Given the description of an element on the screen output the (x, y) to click on. 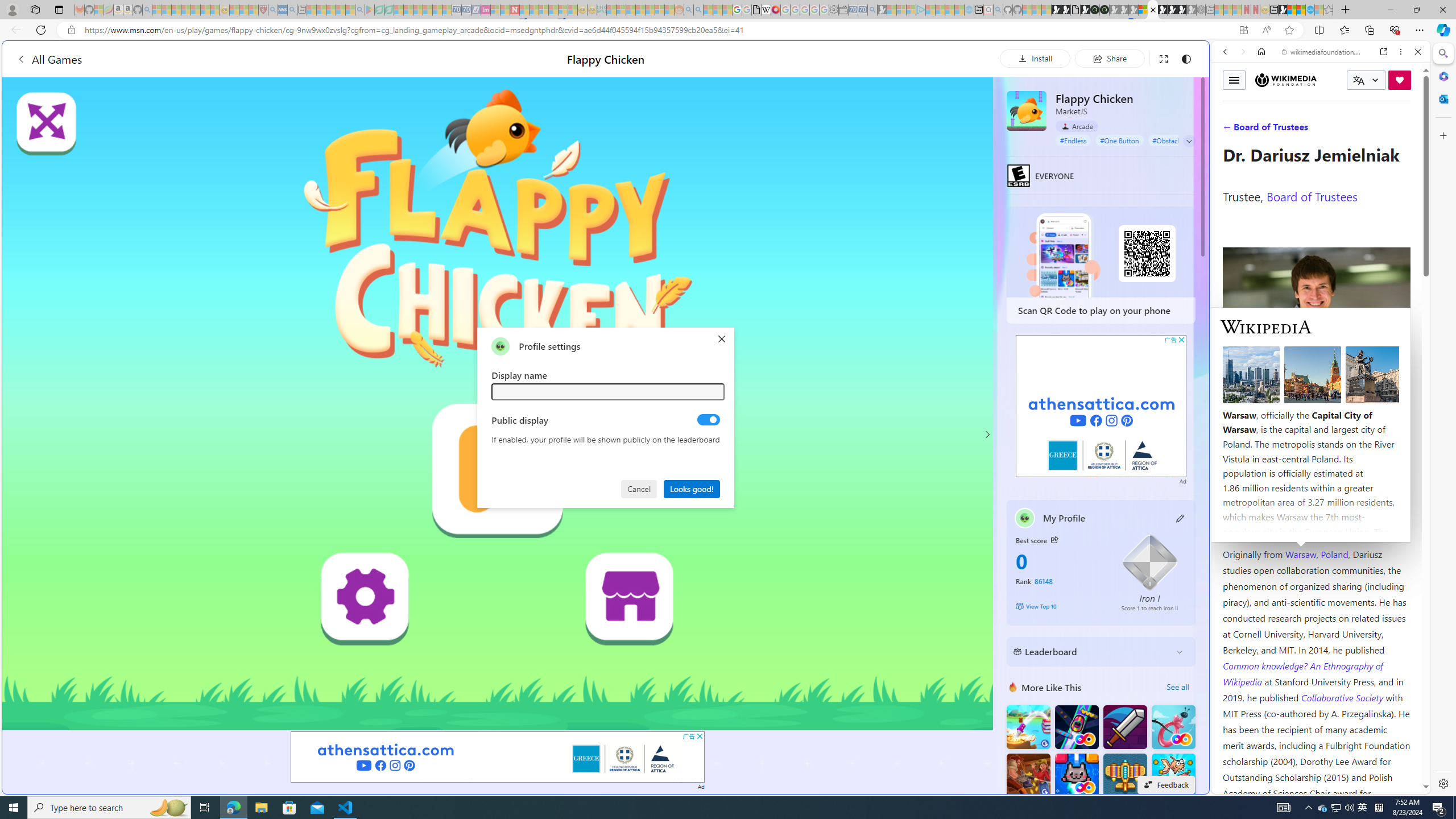
Donate now (1399, 80)
See all (1177, 687)
Earth has six continents not seven, radical new study claims (1300, 9)
Bumper Car FRVR (1076, 726)
Share (1109, 58)
